Given the description of an element on the screen output the (x, y) to click on. 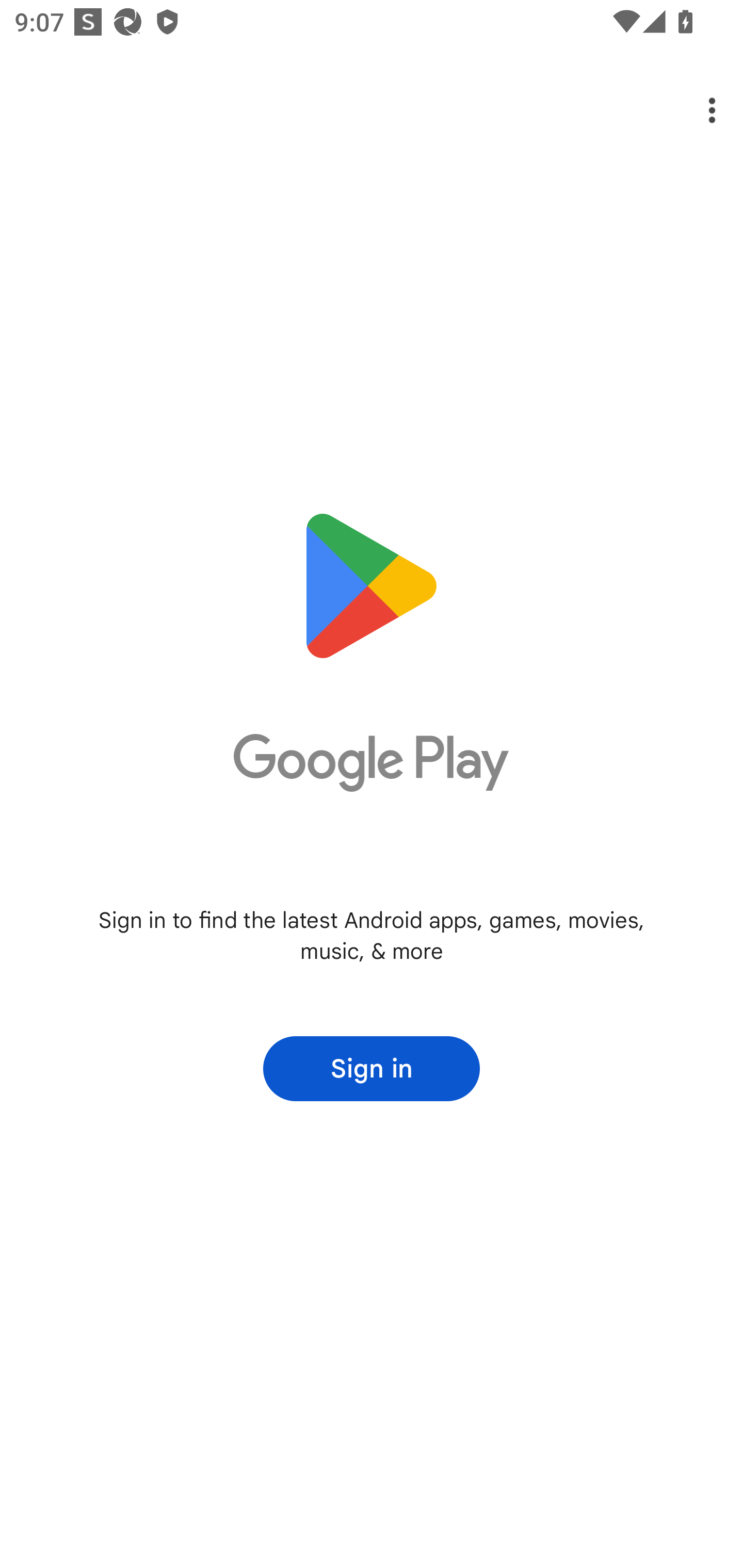
Options (697, 110)
Sign in (371, 1068)
